Given the description of an element on the screen output the (x, y) to click on. 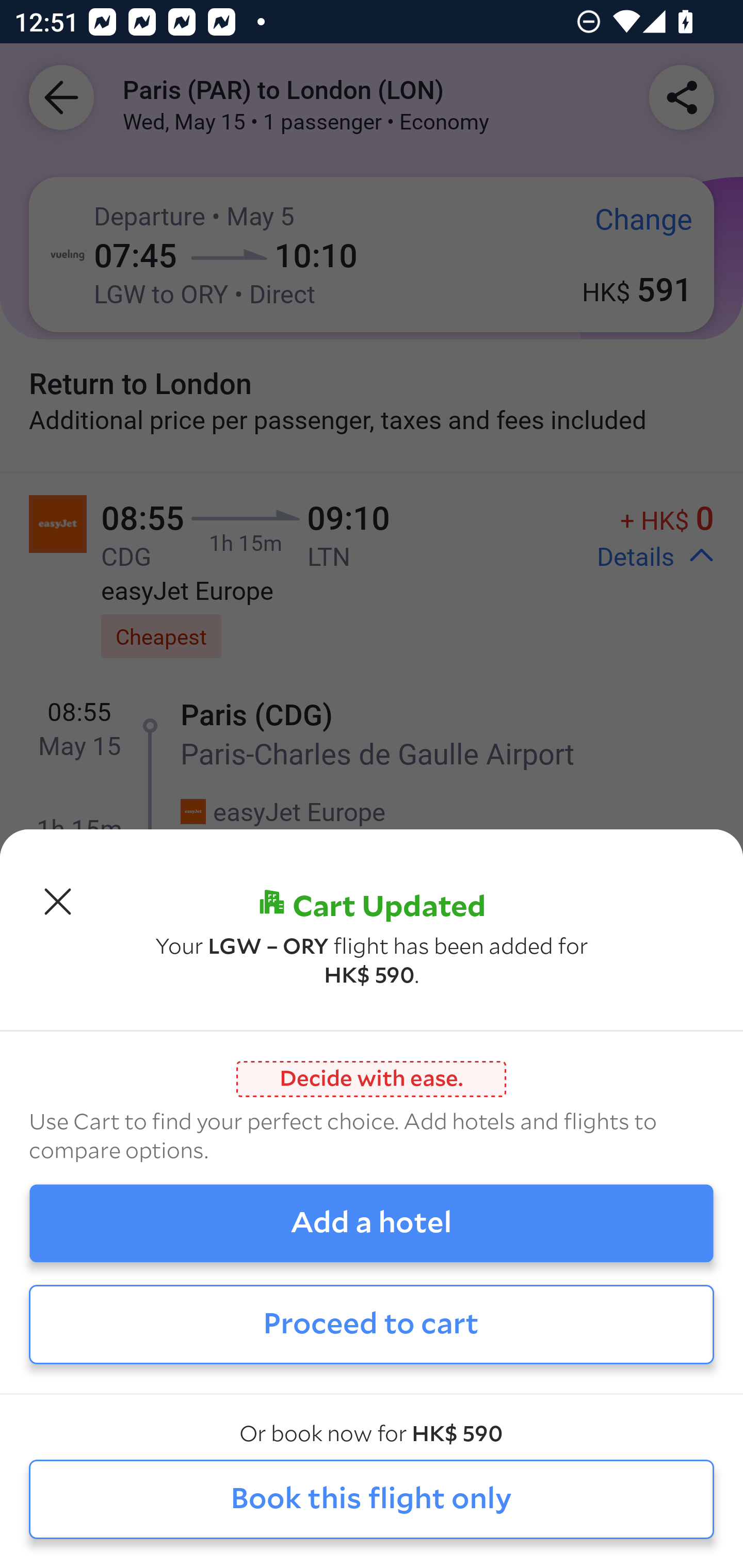
Add a hotel  Add a hotel (371, 1223)
Proceed to cart  Proceed to cart (371, 1324)
Book this flight only  Book this flight only (371, 1499)
